Given the description of an element on the screen output the (x, y) to click on. 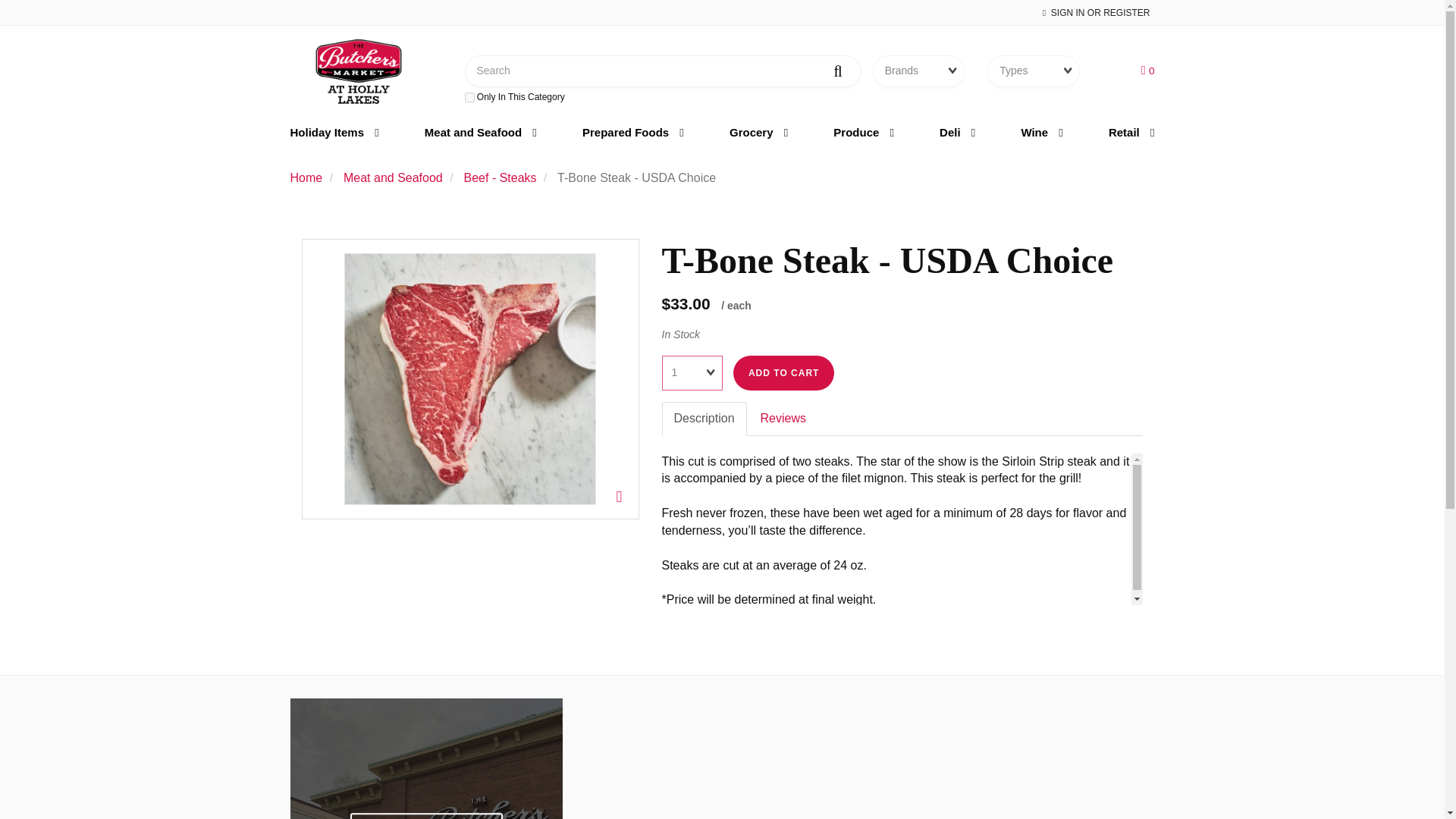
T-Bone Steak - USDA Choice (469, 379)
37 (469, 97)
Go (838, 68)
